Given the description of an element on the screen output the (x, y) to click on. 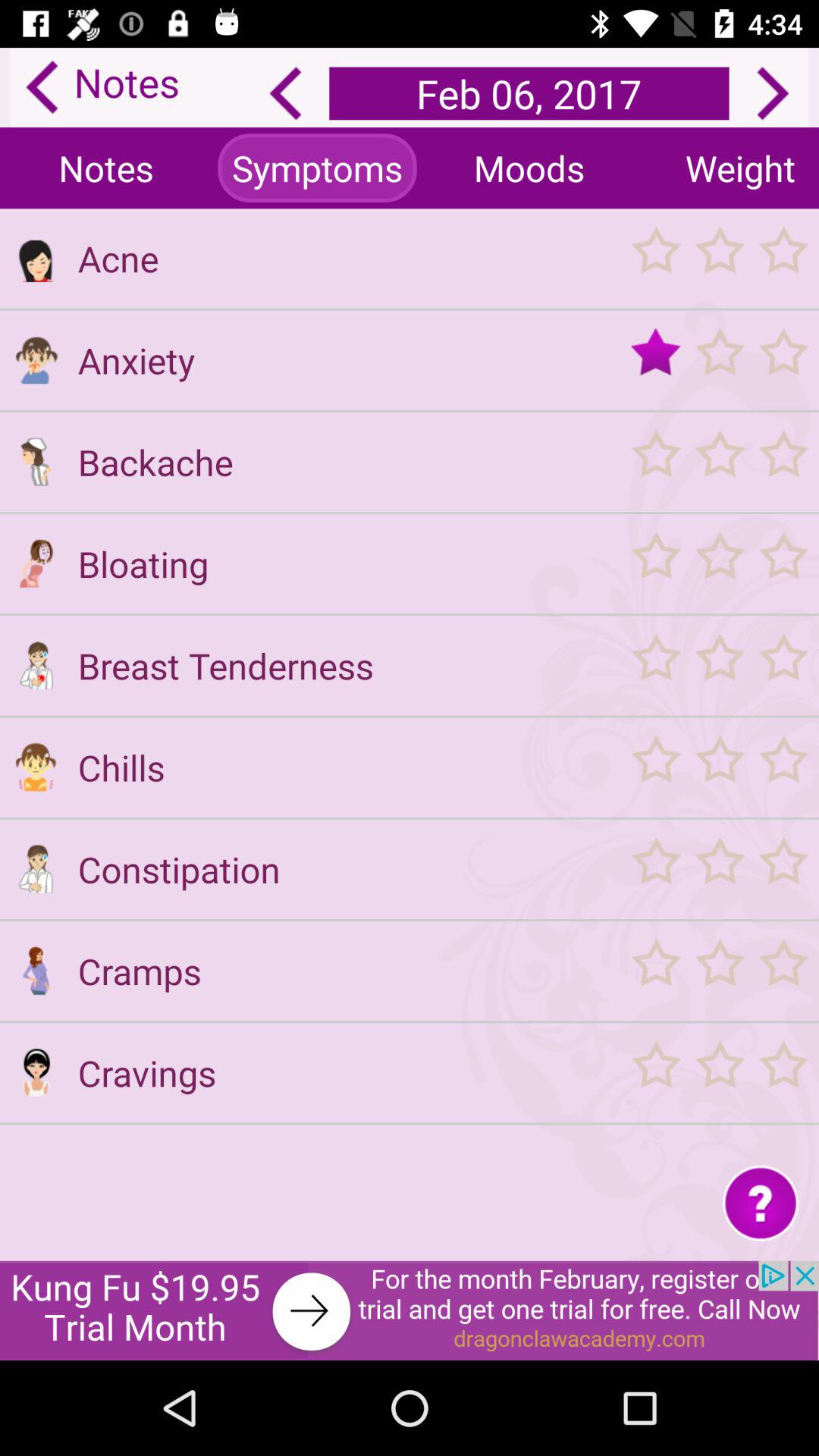
my period tracker calendar (719, 461)
